Given the description of an element on the screen output the (x, y) to click on. 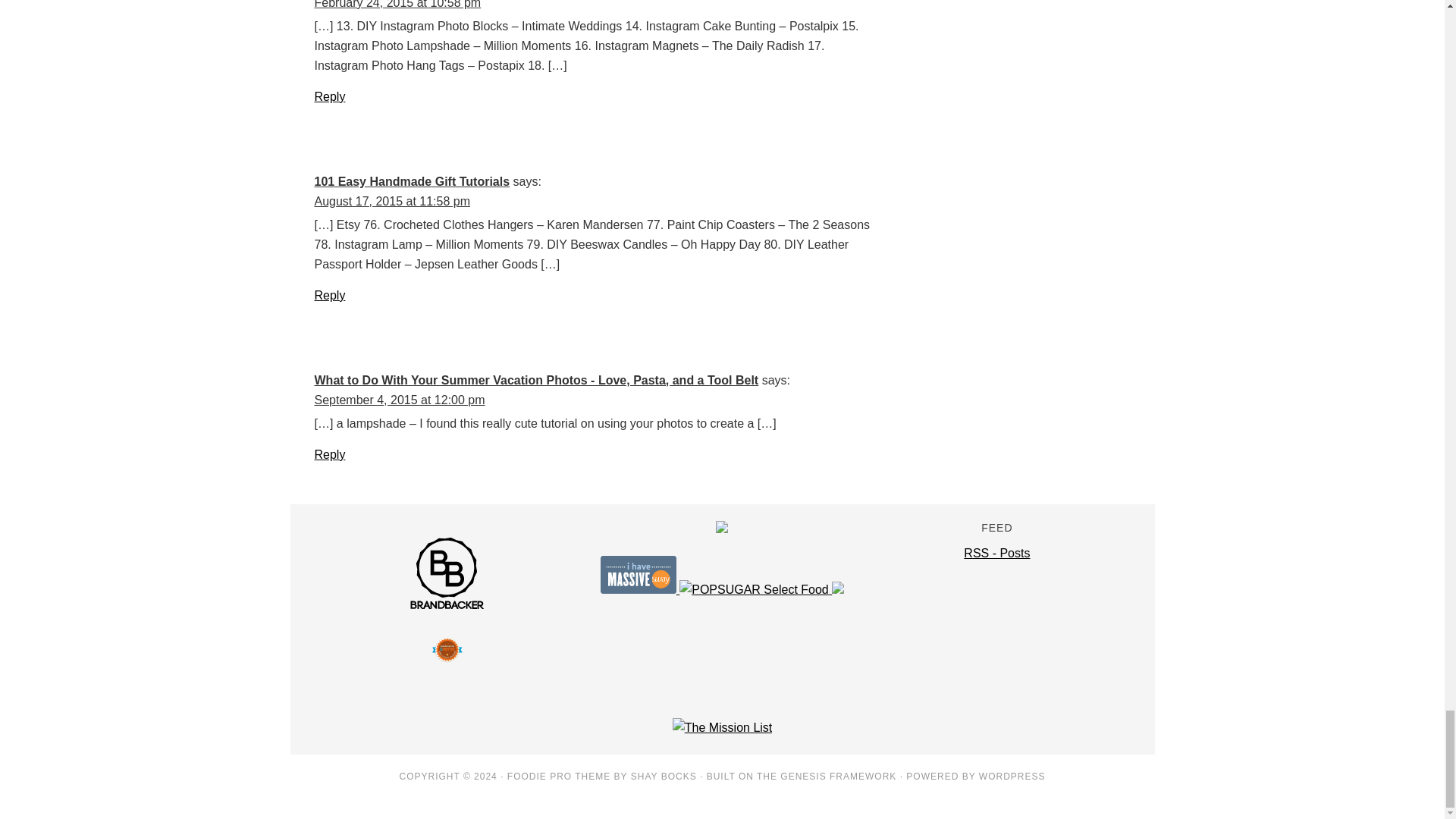
BrandBacker Member (446, 607)
Subscribe to posts (996, 553)
The Mission List (722, 727)
I Have Massive Sway (639, 589)
